Given the description of an element on the screen output the (x, y) to click on. 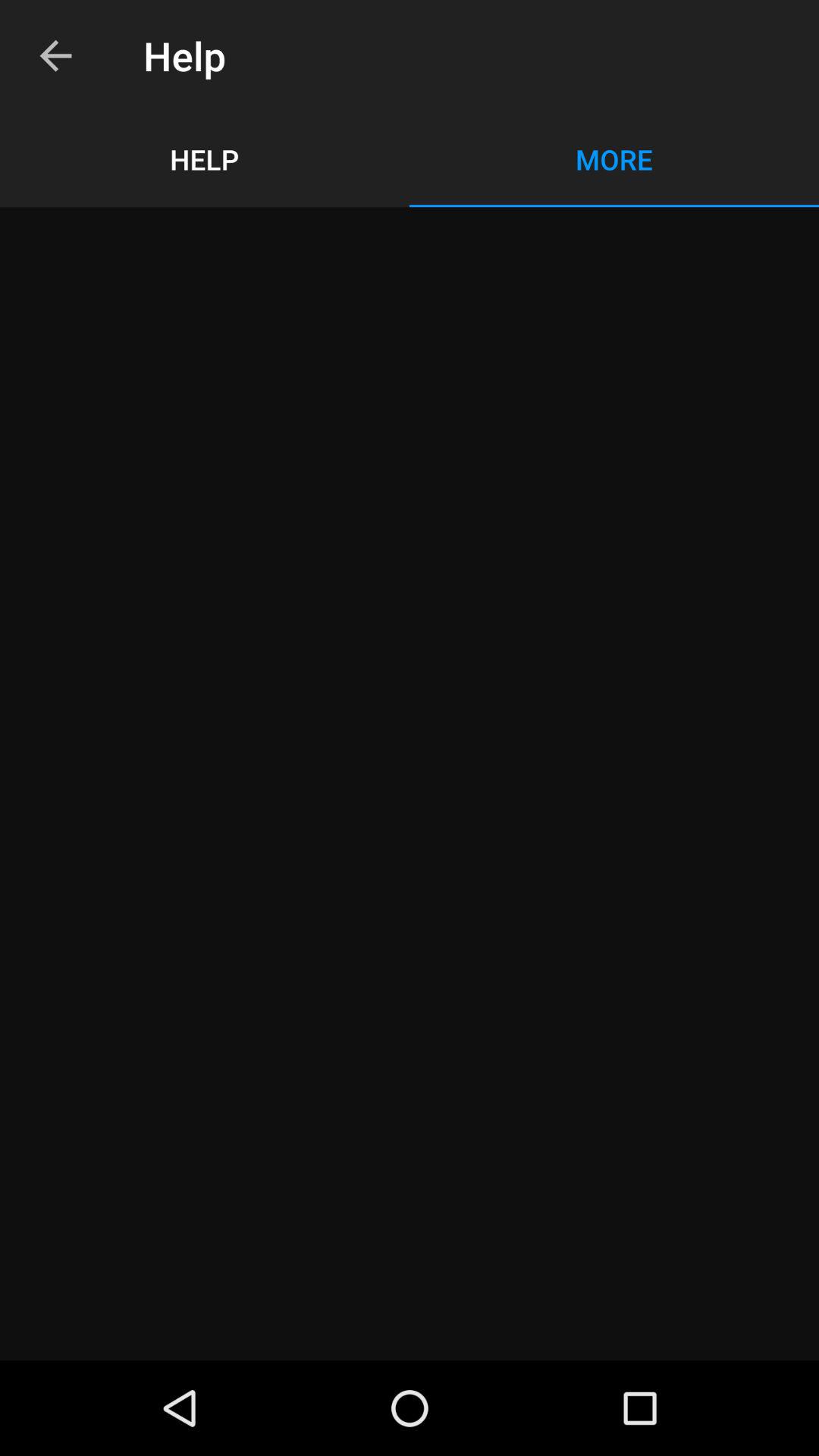
turn off the icon next to help item (55, 55)
